Given the description of an element on the screen output the (x, y) to click on. 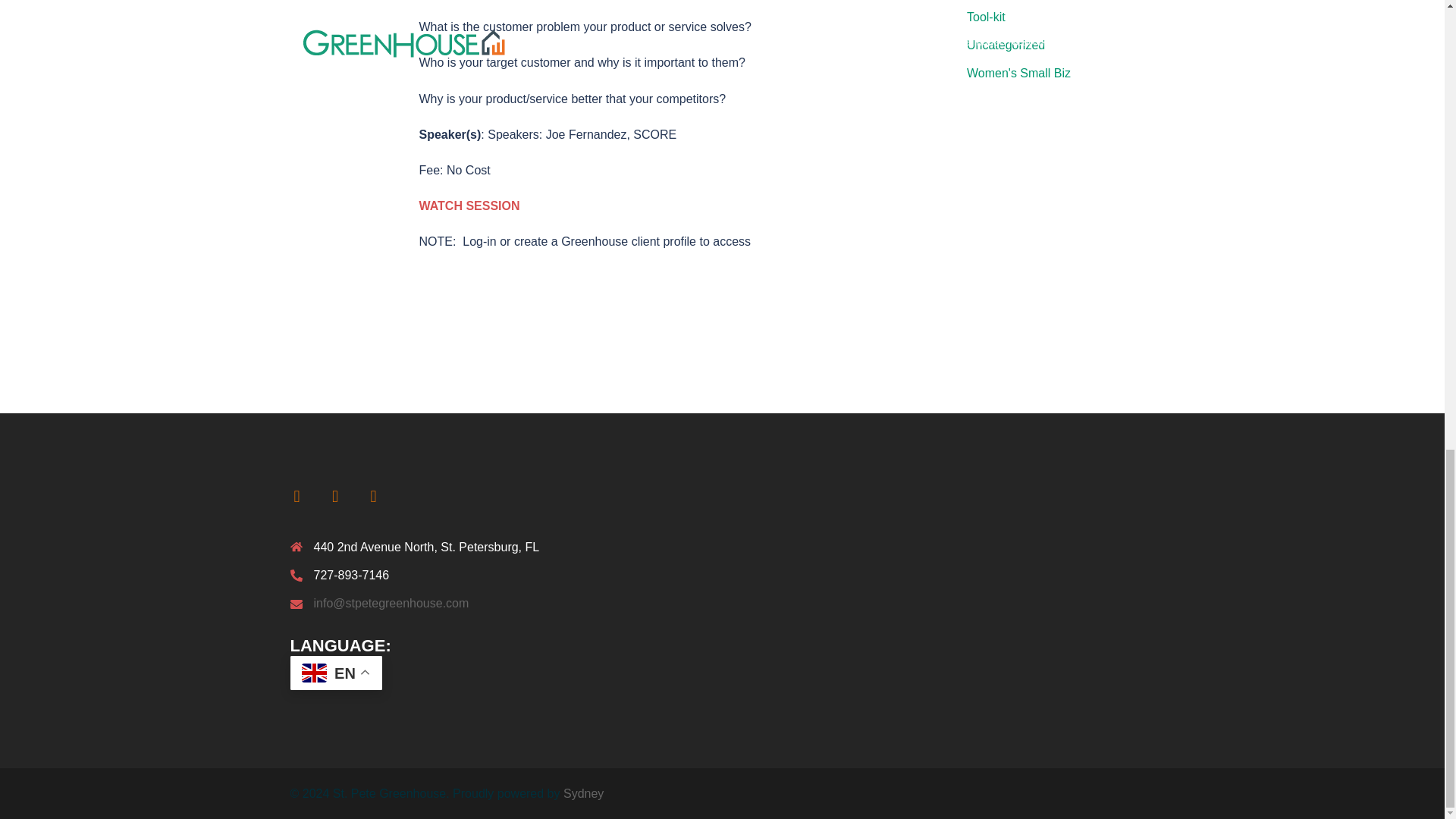
Facebook (296, 495)
Twitter (334, 495)
Instagram (372, 495)
